Given the description of an element on the screen output the (x, y) to click on. 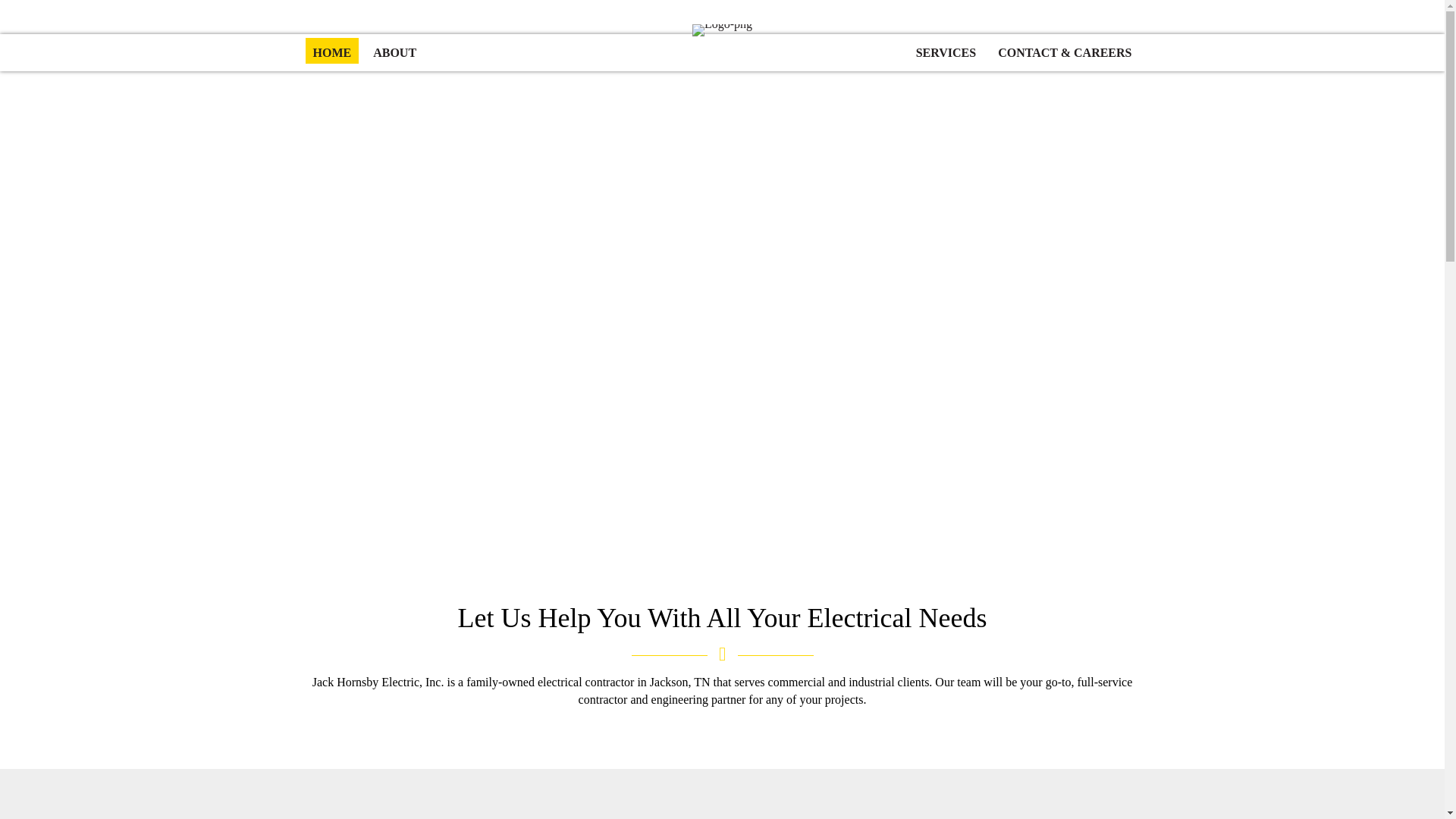
SERVICES (946, 50)
Logo-png (722, 30)
ABOUT (394, 50)
HOME (331, 50)
